Given the description of an element on the screen output the (x, y) to click on. 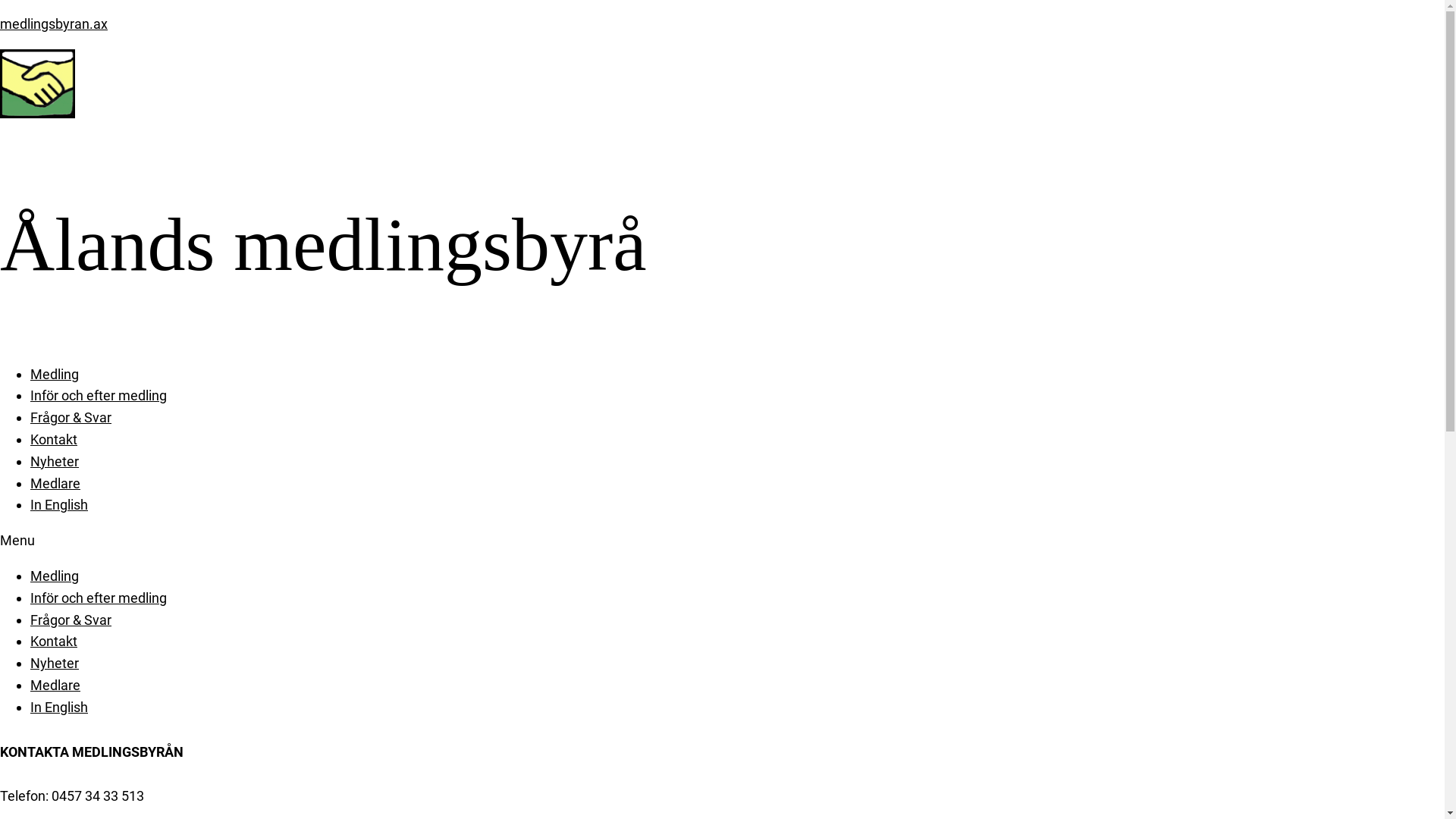
In English Element type: text (58, 707)
Kontakt Element type: text (53, 641)
In English Element type: text (58, 504)
Medlare Element type: text (55, 685)
Nyheter Element type: text (54, 663)
medlingsbyran.ax Element type: text (53, 23)
Kontakt Element type: text (53, 439)
Medling Element type: text (54, 575)
Medling Element type: text (54, 374)
Medlare Element type: text (55, 483)
Nyheter Element type: text (54, 461)
